Given the description of an element on the screen output the (x, y) to click on. 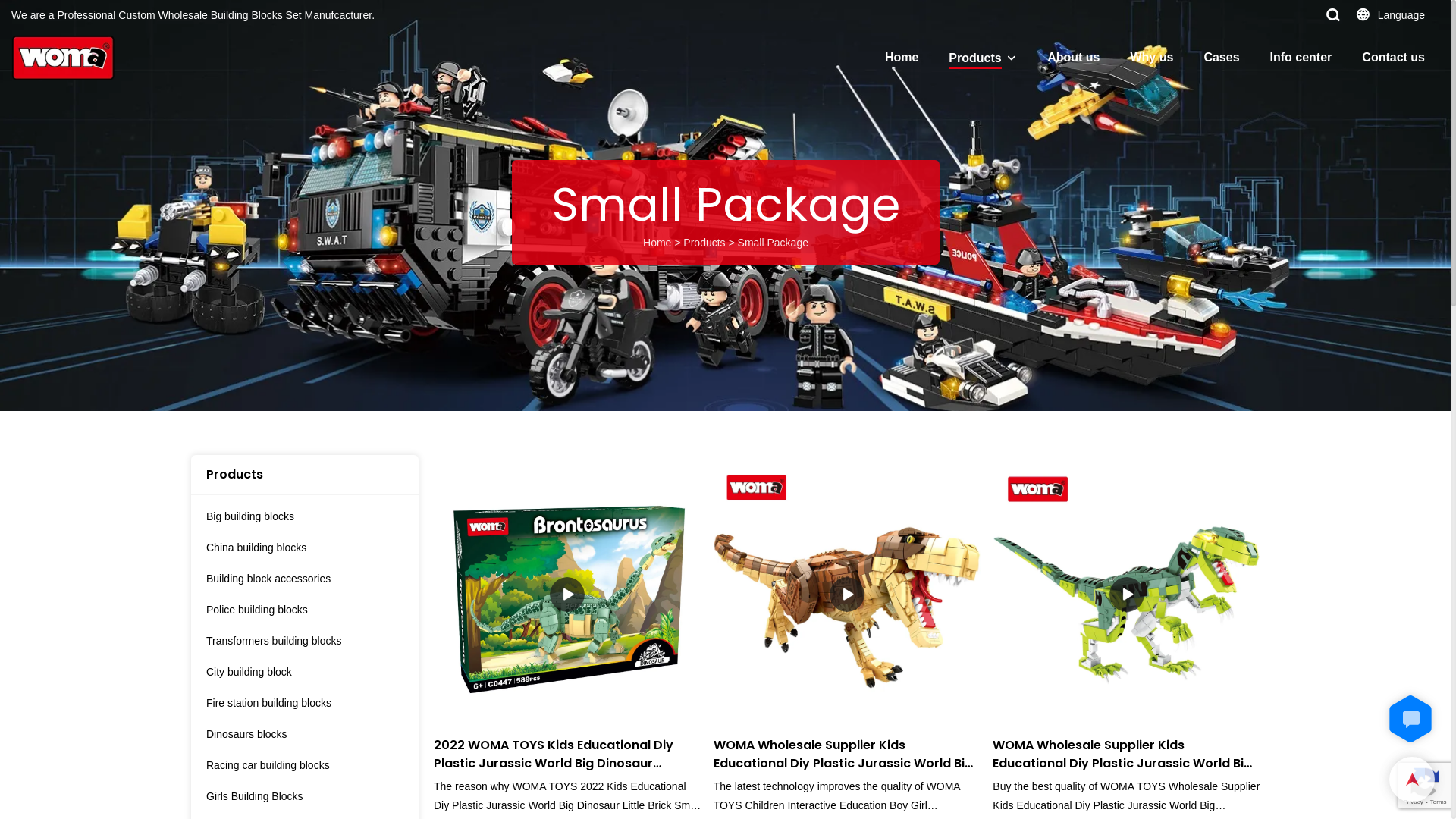
Contact us Element type: text (1392, 56)
Dinosaurs blocks Element type: text (297, 733)
Info center Element type: text (1301, 56)
Products Element type: text (703, 242)
Big building blocks Element type: text (297, 516)
Home Element type: text (901, 56)
About us Element type: text (1073, 56)
Home Element type: text (657, 242)
China building blocks Element type: text (297, 547)
Racing car building blocks Element type: text (297, 765)
Small Package Element type: text (772, 242)
Building block accessories Element type: text (297, 578)
Transformers building blocks Element type: text (297, 640)
Fire station building blocks Element type: text (297, 702)
Police building blocks Element type: text (297, 609)
Girls Building Blocks Element type: text (297, 796)
City building block Element type: text (297, 671)
Products Element type: text (974, 58)
Why us Element type: text (1151, 56)
Cases Element type: text (1221, 56)
